Given the description of an element on the screen output the (x, y) to click on. 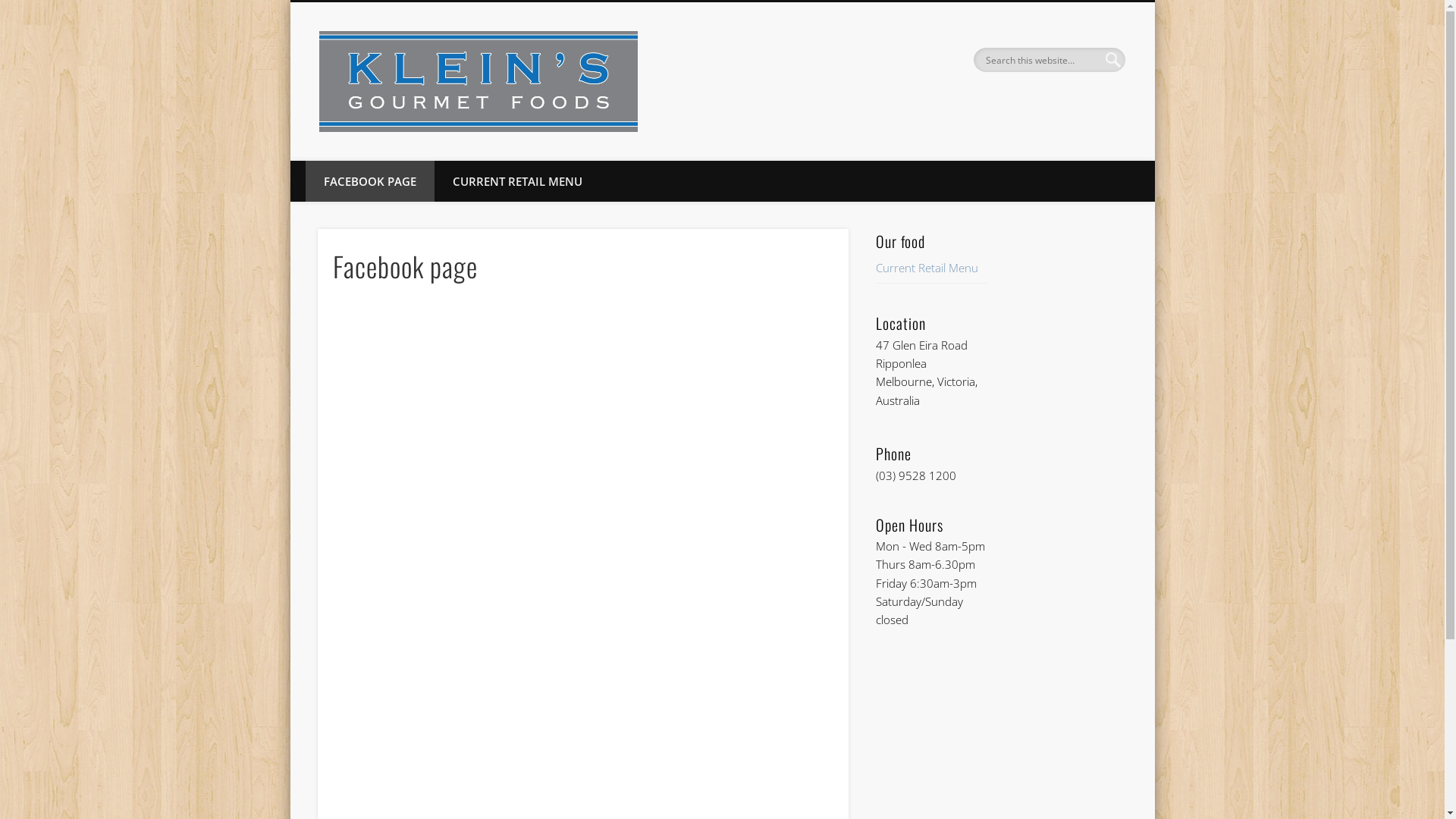
Search Element type: text (11, 9)
FACEBOOK PAGE Element type: text (368, 180)
Current Retail Menu Element type: text (926, 267)
|| Element type: text (1129, 188)
CURRENT RETAIL MENU Element type: text (516, 180)
